Given the description of an element on the screen output the (x, y) to click on. 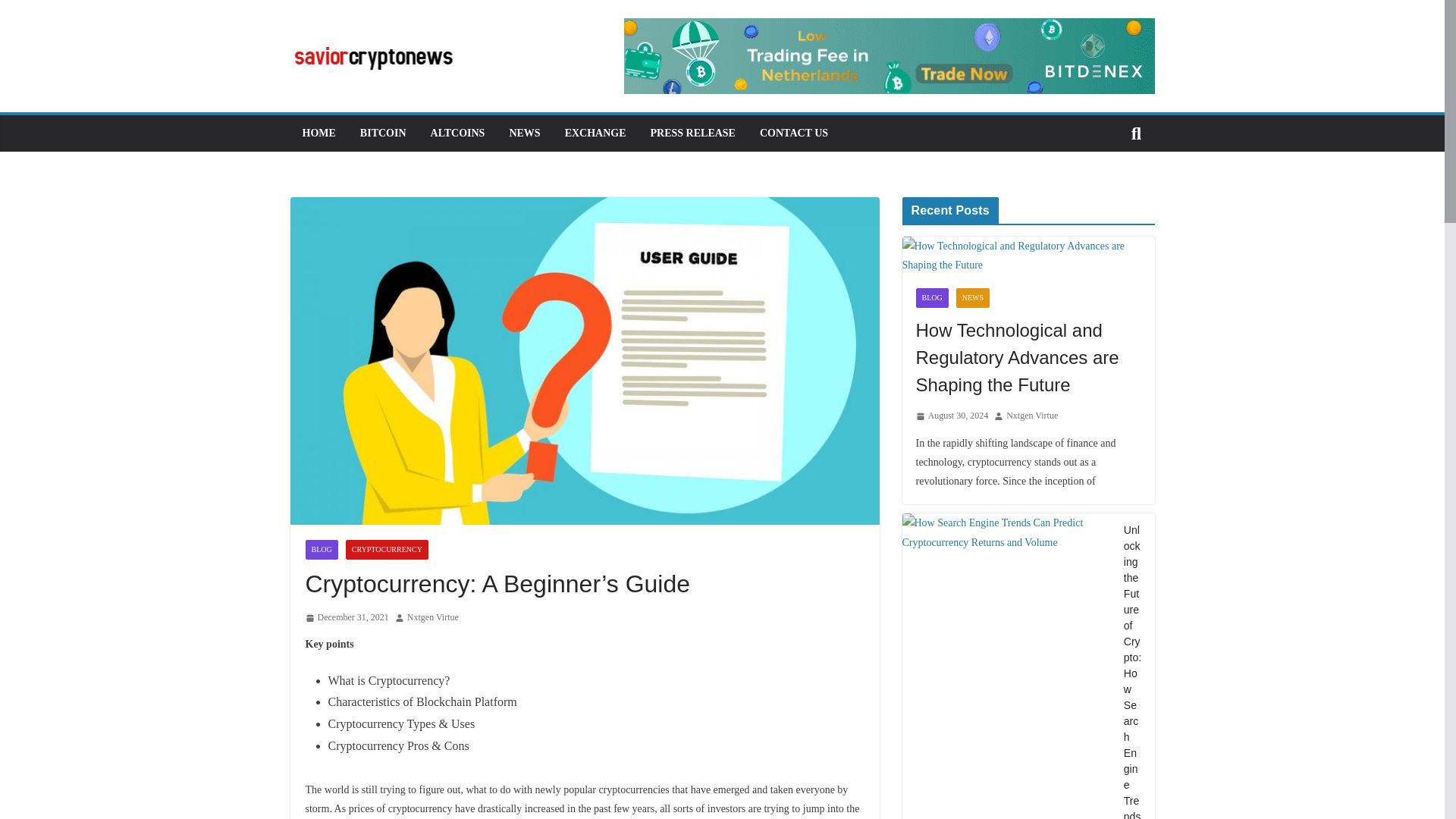
NEWS (973, 297)
Nxtgen Virtue (1032, 416)
Nxtgen Virtue (432, 617)
NEWS (524, 133)
CRYPTOCURRENCY (387, 549)
EXCHANGE (595, 133)
BITCOIN (382, 133)
5:56 am (346, 617)
ALTCOINS (457, 133)
HOME (317, 133)
